Given the description of an element on the screen output the (x, y) to click on. 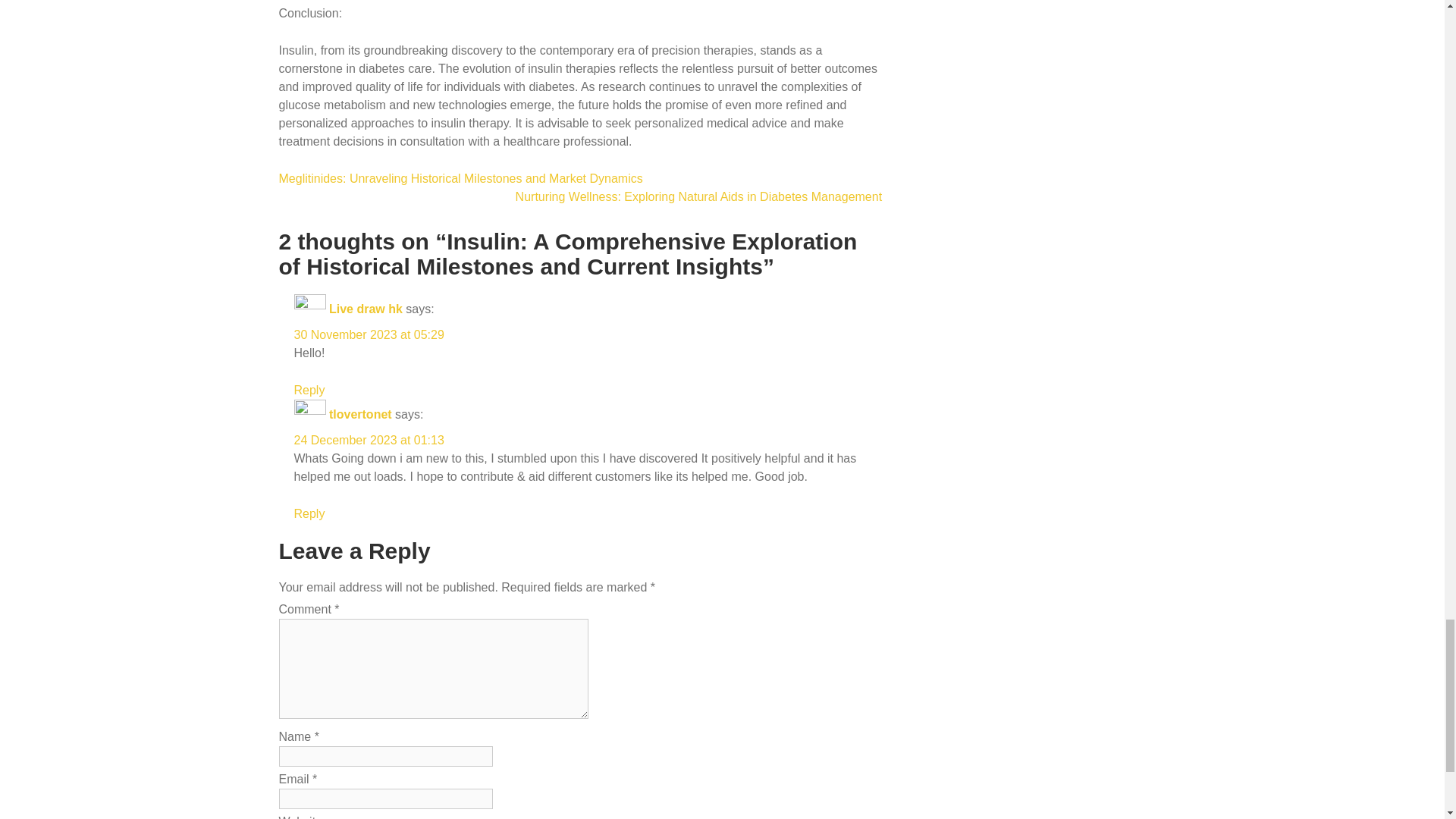
Reply (309, 513)
30 November 2023 at 05:29 (369, 334)
24 December 2023 at 01:13 (369, 440)
Reply (309, 390)
Live draw hk (366, 308)
tlovertonet (360, 413)
